Given the description of an element on the screen output the (x, y) to click on. 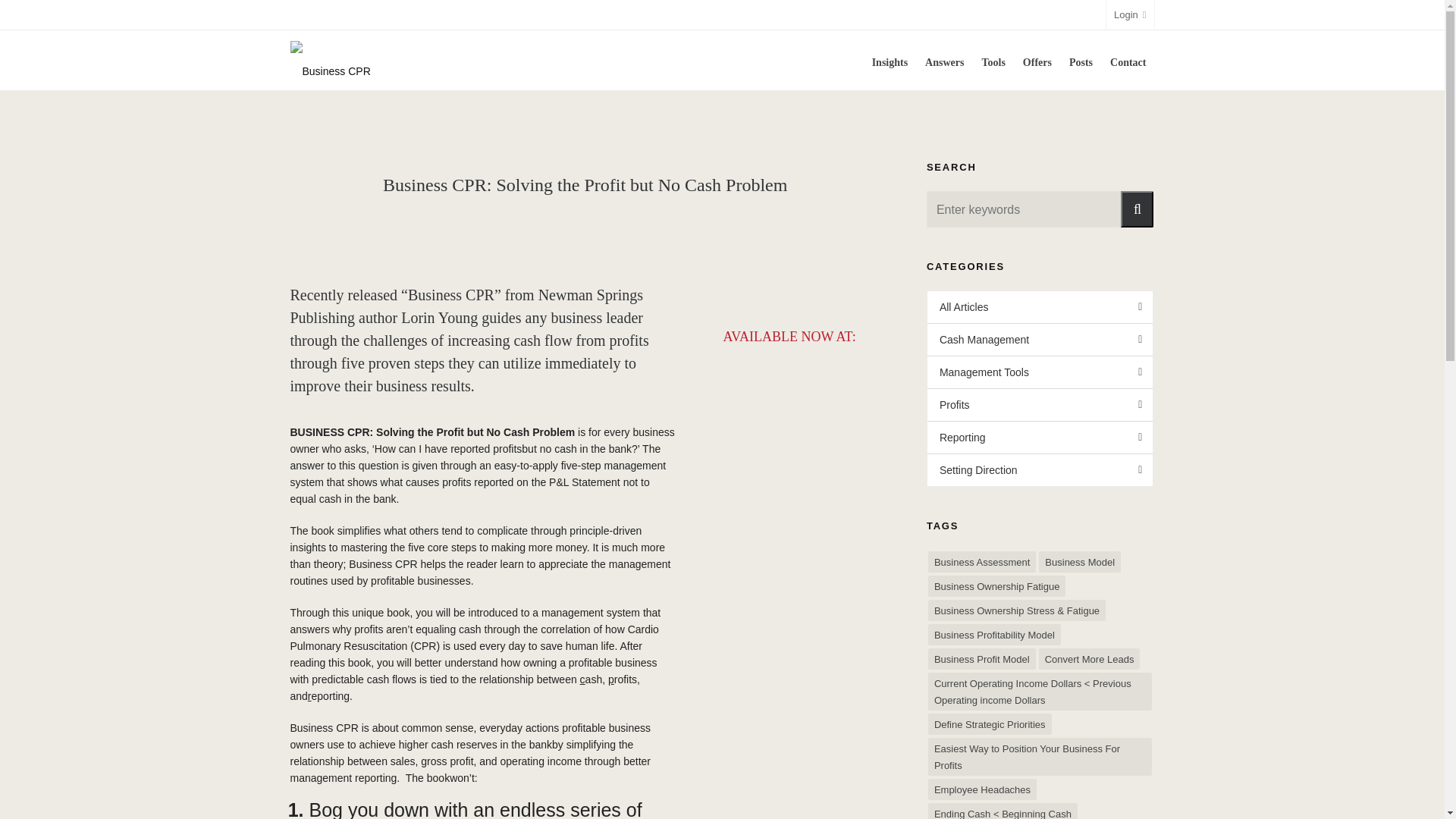
Business Ownership Fatigue (996, 586)
Easiest Way to Position Your Business For Profits (1040, 756)
Profits (1040, 404)
Setting Direction (1040, 470)
Cash Management (1040, 339)
Business Profit Model (981, 658)
Employee Headaches (982, 789)
Answers (944, 60)
Define Strategic Priorities (989, 723)
Business Profitability Model (994, 634)
